Given the description of an element on the screen output the (x, y) to click on. 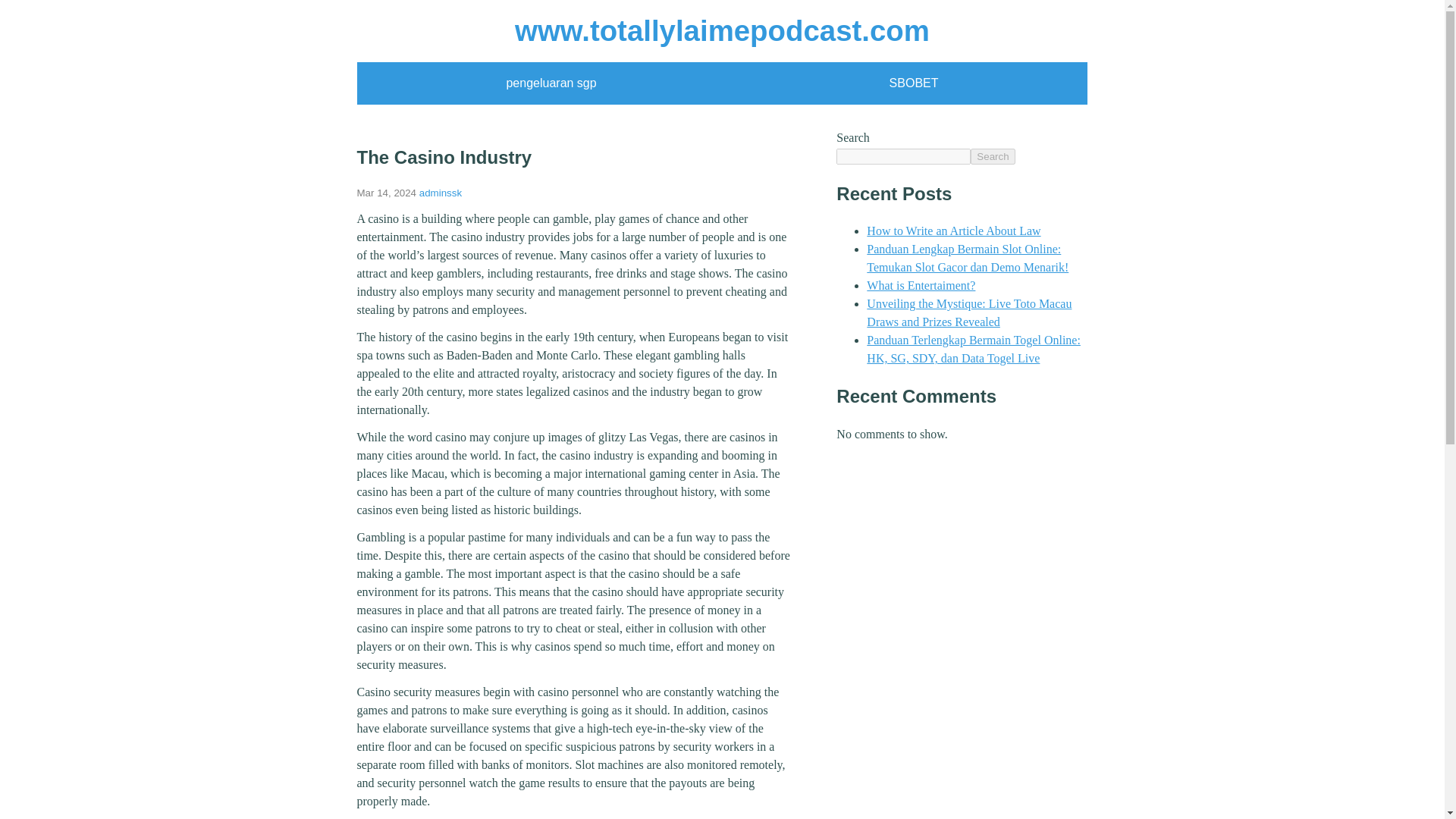
pengeluaran sgp (550, 82)
What is Entertaiment? (920, 285)
How to Write an Article About Law (953, 230)
www.totallylaimepodcast.com (722, 30)
adminssk (440, 193)
SBOBET (914, 82)
Search (992, 156)
